Given the description of an element on the screen output the (x, y) to click on. 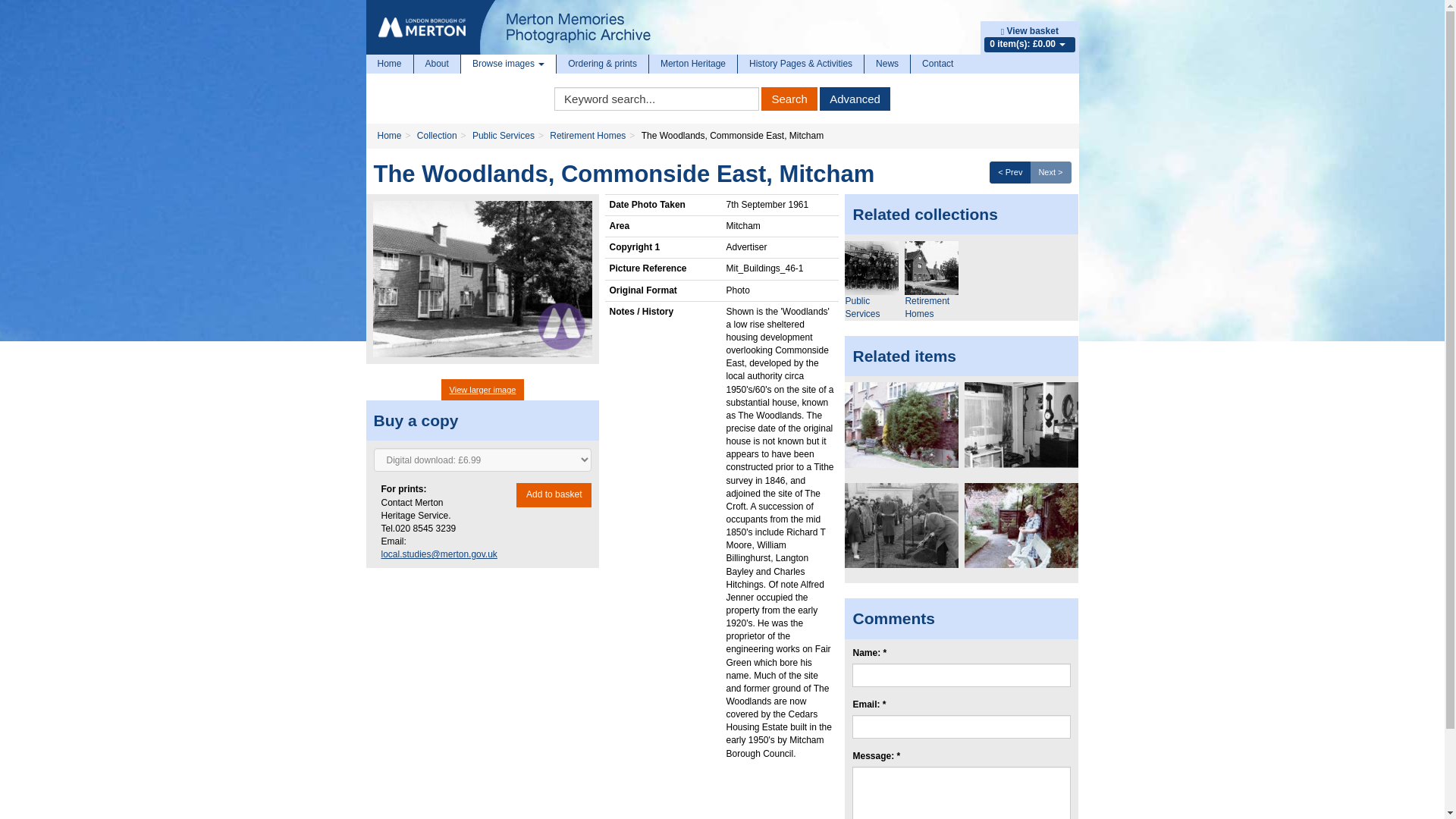
Search (788, 98)
View basket (1029, 30)
Previous image (1010, 172)
Browse images (508, 63)
Retirement Homes (931, 267)
View larger image (482, 390)
Advanced (854, 98)
Retirement Homes (588, 135)
The Woodlands, Commonside East, Mitcham (482, 278)
Glebelands Old People's Home, Mitcham (901, 525)
Contact (937, 63)
Public Services (871, 267)
Home (389, 135)
About (436, 63)
Home (388, 63)
